Given the description of an element on the screen output the (x, y) to click on. 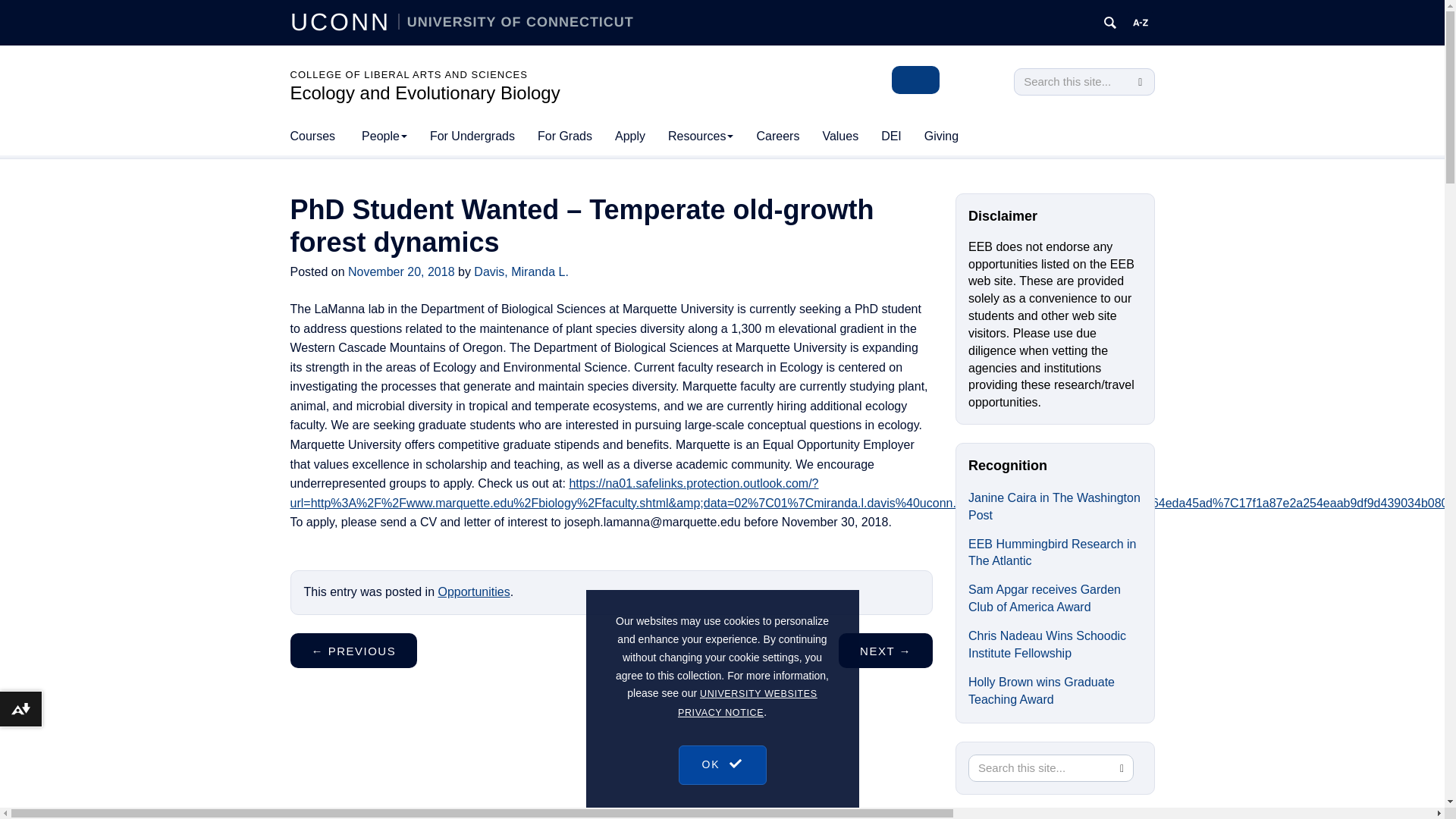
UConn A to Z Index (1140, 22)
Resources (700, 136)
Search this site...  (1071, 81)
COLLEGE OF LIBERAL ARTS AND SCIENCES (408, 74)
Courses (312, 136)
UCONN (343, 21)
For Undergrads (472, 136)
Posts by Davis, Miranda L. (521, 271)
SEARCH (1140, 81)
Search UConn (1109, 22)
For Grads (564, 136)
UNIVERSITY OF CONNECTICUT (515, 21)
Apply (630, 136)
Ecology and Evolutionary Biology (424, 92)
